Given the description of an element on the screen output the (x, y) to click on. 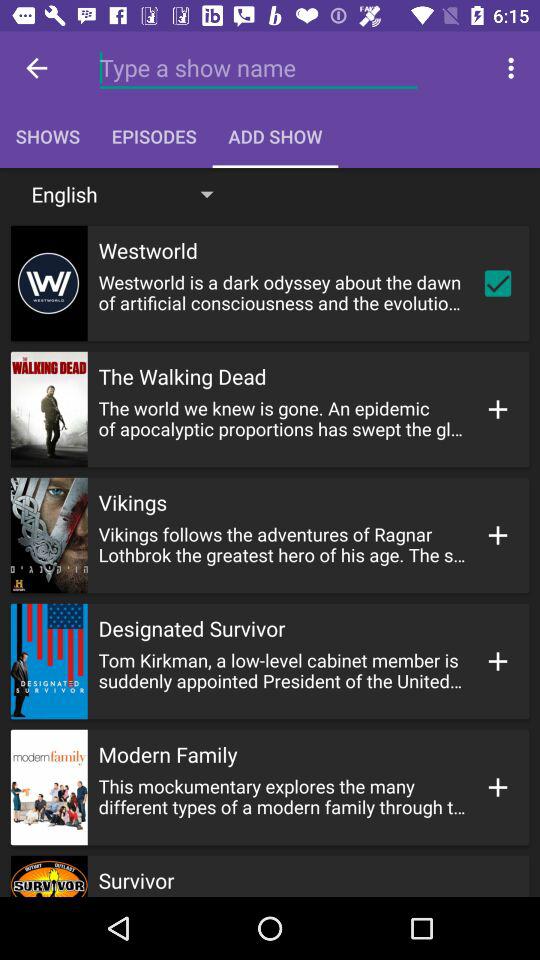
click on image left to modern family (49, 786)
select the button below english (269, 282)
click on fourth field which is above modern family (269, 661)
go to the field above episodes at the top of the page (258, 68)
click the button on the bottom right corner of the web page (498, 786)
the last  symbol from the top places at the bottom right corner of the page (498, 786)
